Given the description of an element on the screen output the (x, y) to click on. 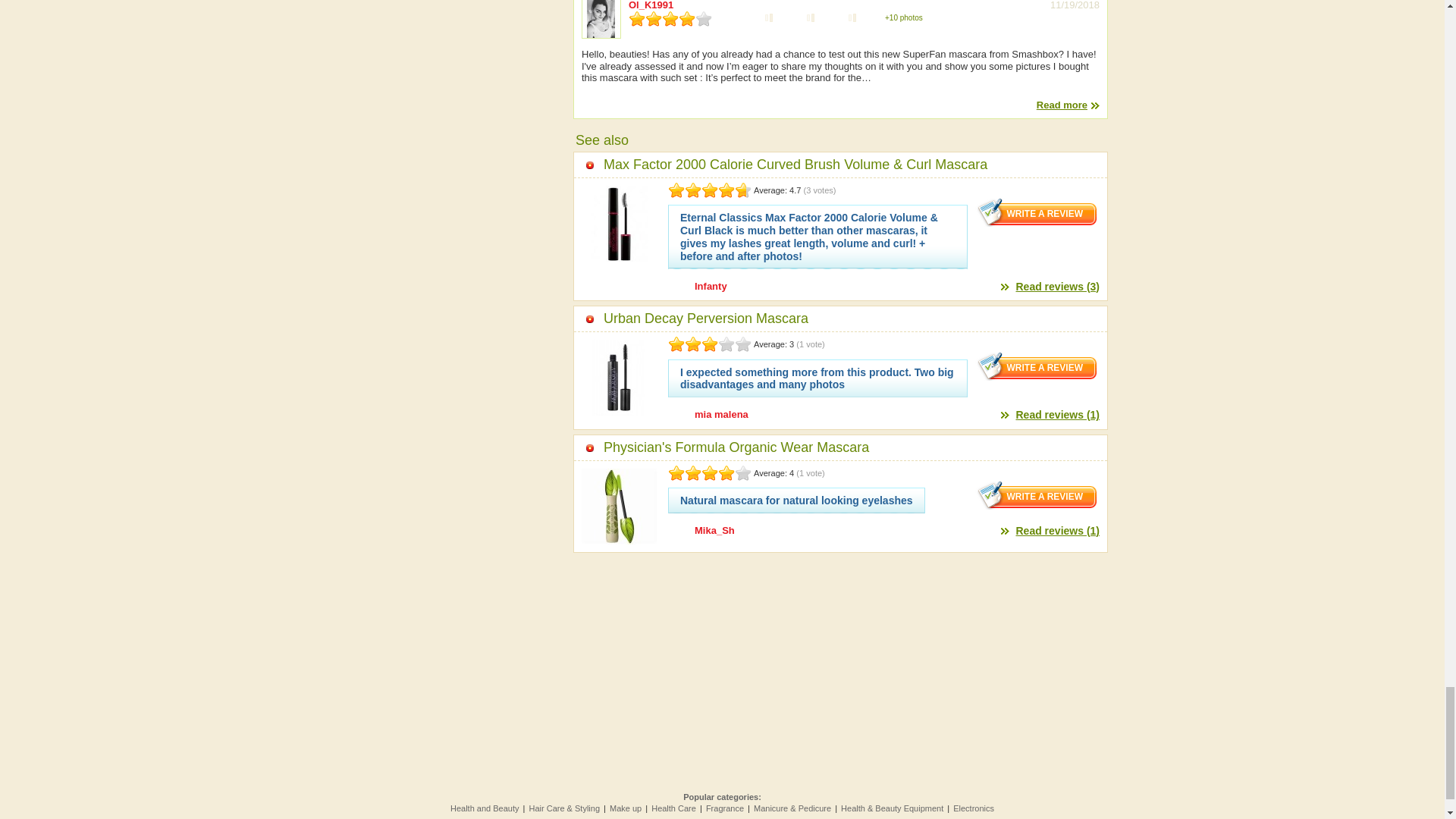
Write a review (1037, 366)
Write a review (1037, 212)
Write a review (1037, 494)
